Given the description of an element on the screen output the (x, y) to click on. 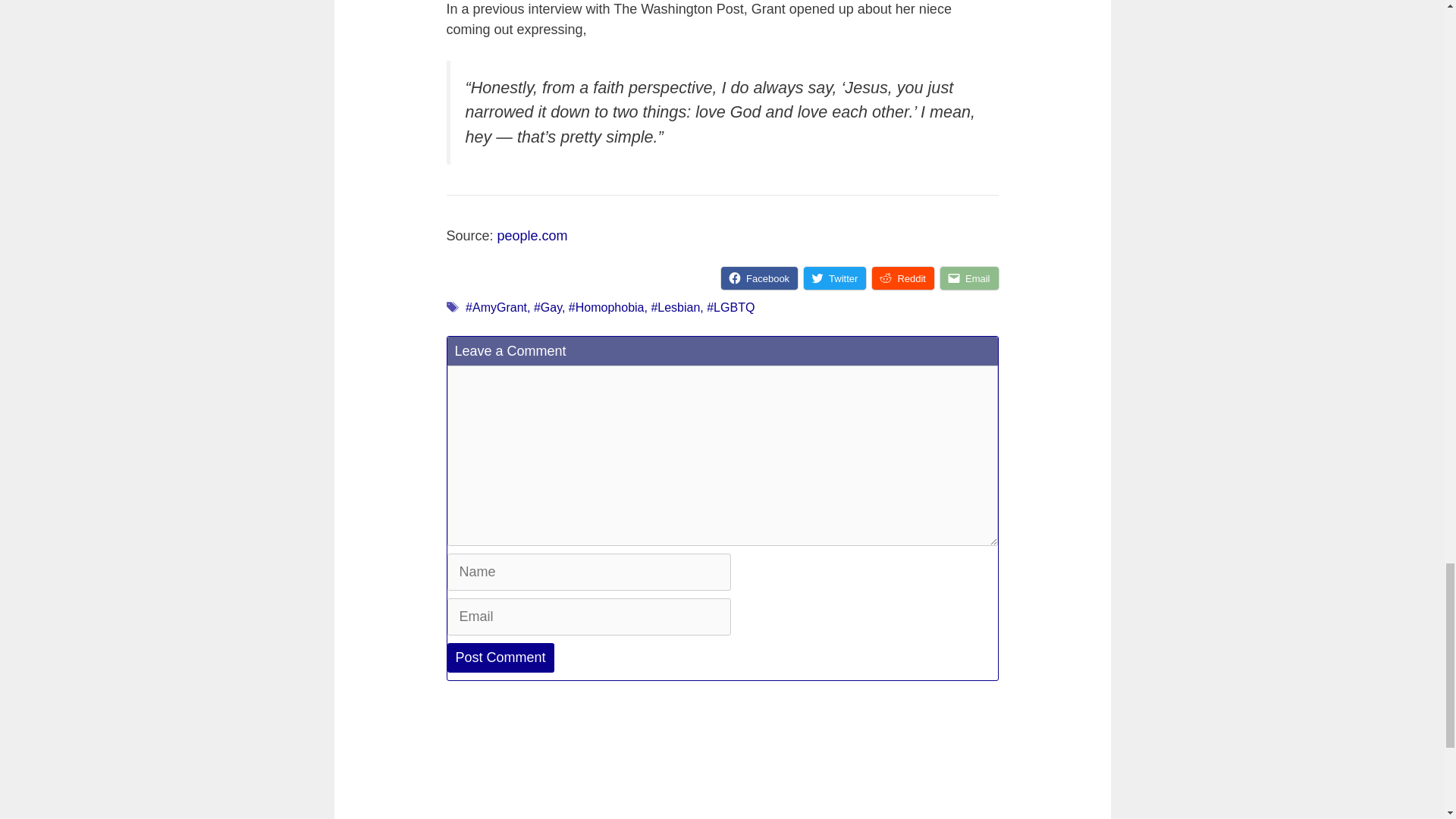
Click to share on Twitter (834, 277)
people.com (532, 235)
Reddit (903, 277)
Facebook (758, 277)
Click to email a link to a friend (969, 277)
Post Comment (500, 657)
Click to share on Reddit (903, 277)
Click to share on Facebook (758, 277)
Twitter (834, 277)
